Given the description of an element on the screen output the (x, y) to click on. 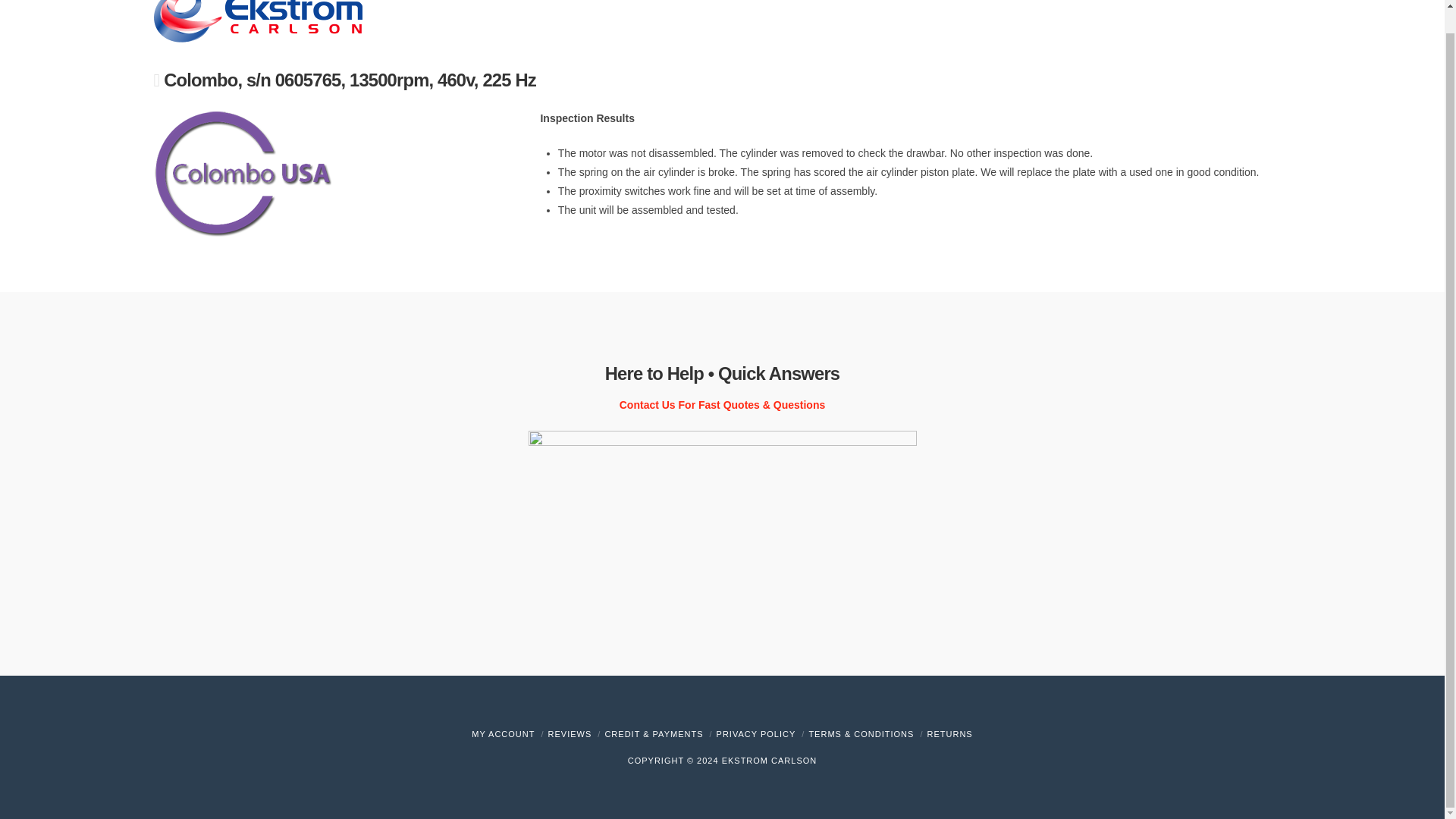
SHOP EKSTROM WEB STORE (1085, 20)
CONTACT (1221, 20)
what customers are saying (570, 733)
BROCHURES (812, 20)
please read (756, 733)
logo (241, 172)
ONLINE PAYMENT (927, 20)
please read (861, 733)
SERVICES (715, 20)
PRODUCTS (618, 20)
